Given the description of an element on the screen output the (x, y) to click on. 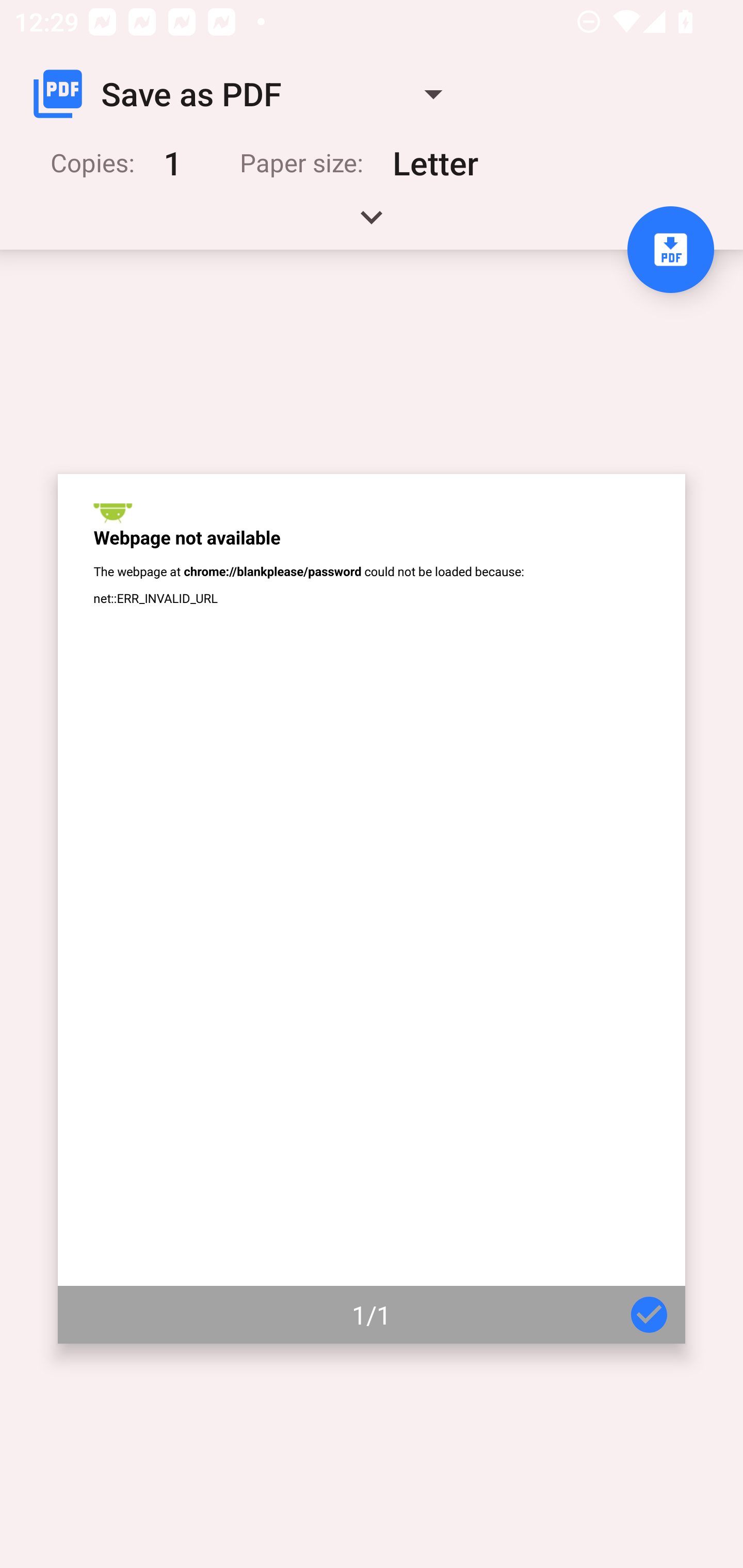
Save as PDF (245, 93)
Expand handle (371, 224)
Save to PDF (670, 249)
Page 1 of 1 1/1 (371, 908)
